Given the description of an element on the screen output the (x, y) to click on. 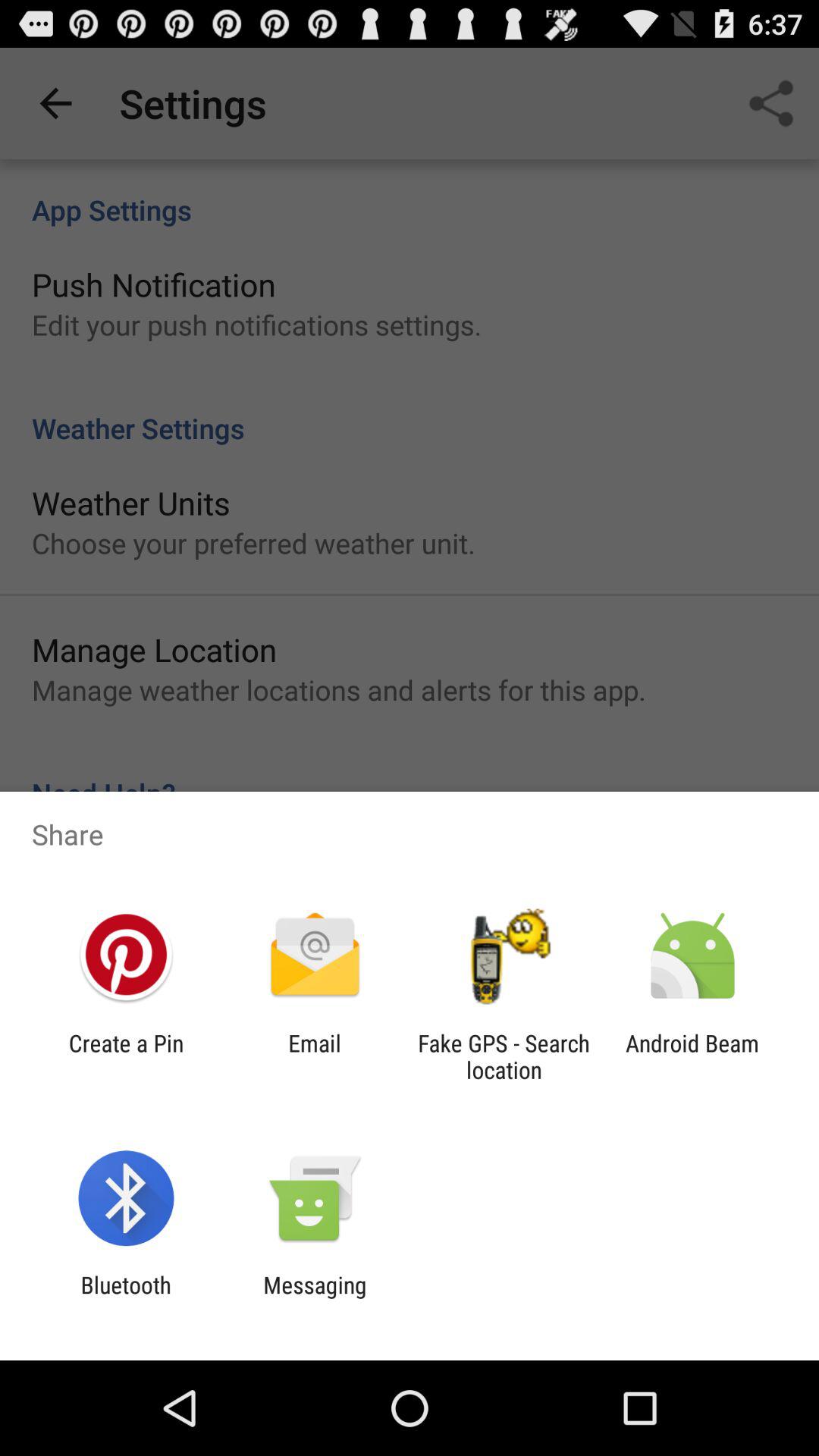
turn off app to the right of email app (503, 1056)
